Given the description of an element on the screen output the (x, y) to click on. 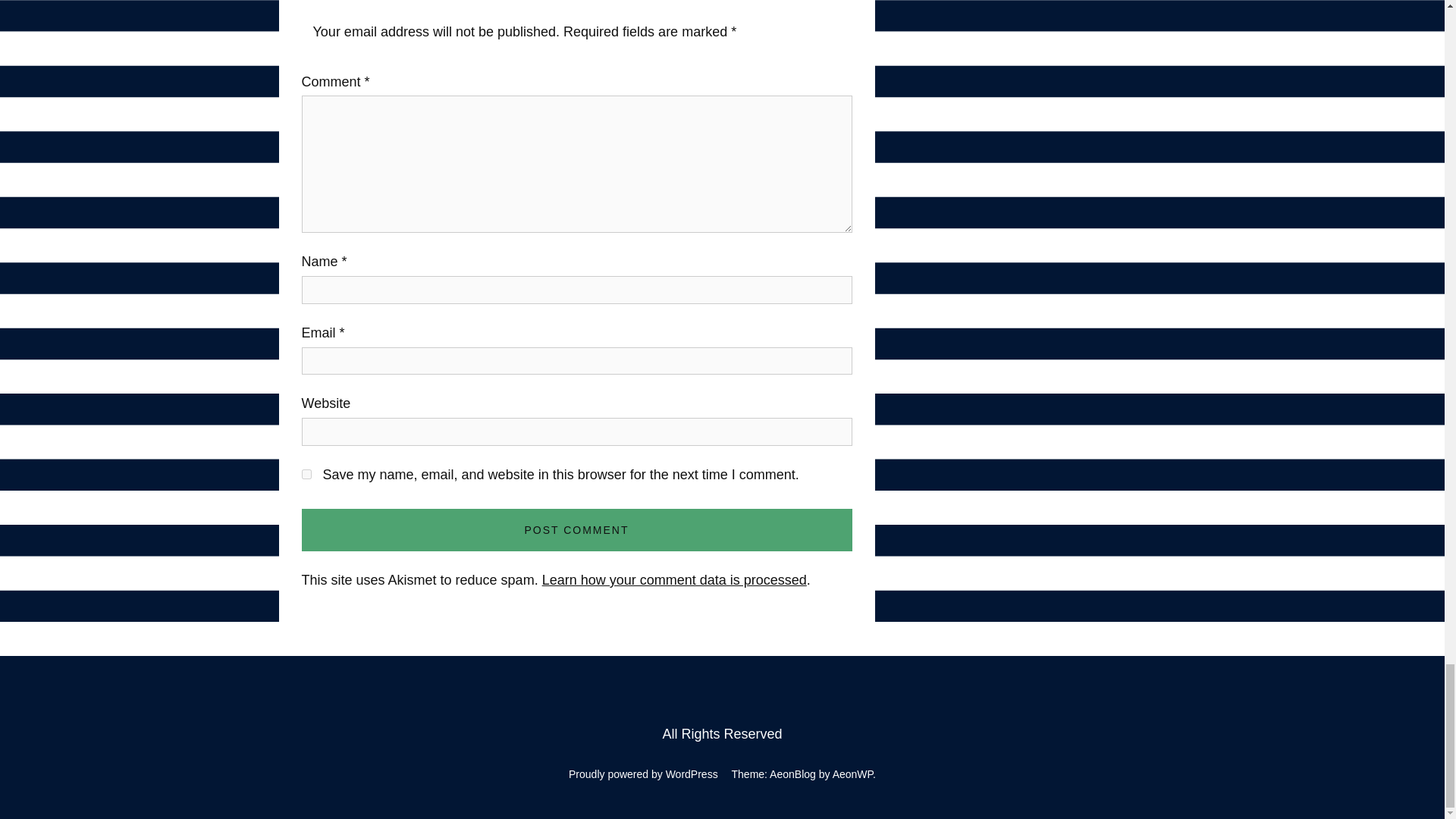
yes (306, 474)
Post Comment (576, 529)
Post Comment (576, 529)
Learn how your comment data is processed (673, 580)
